Given the description of an element on the screen output the (x, y) to click on. 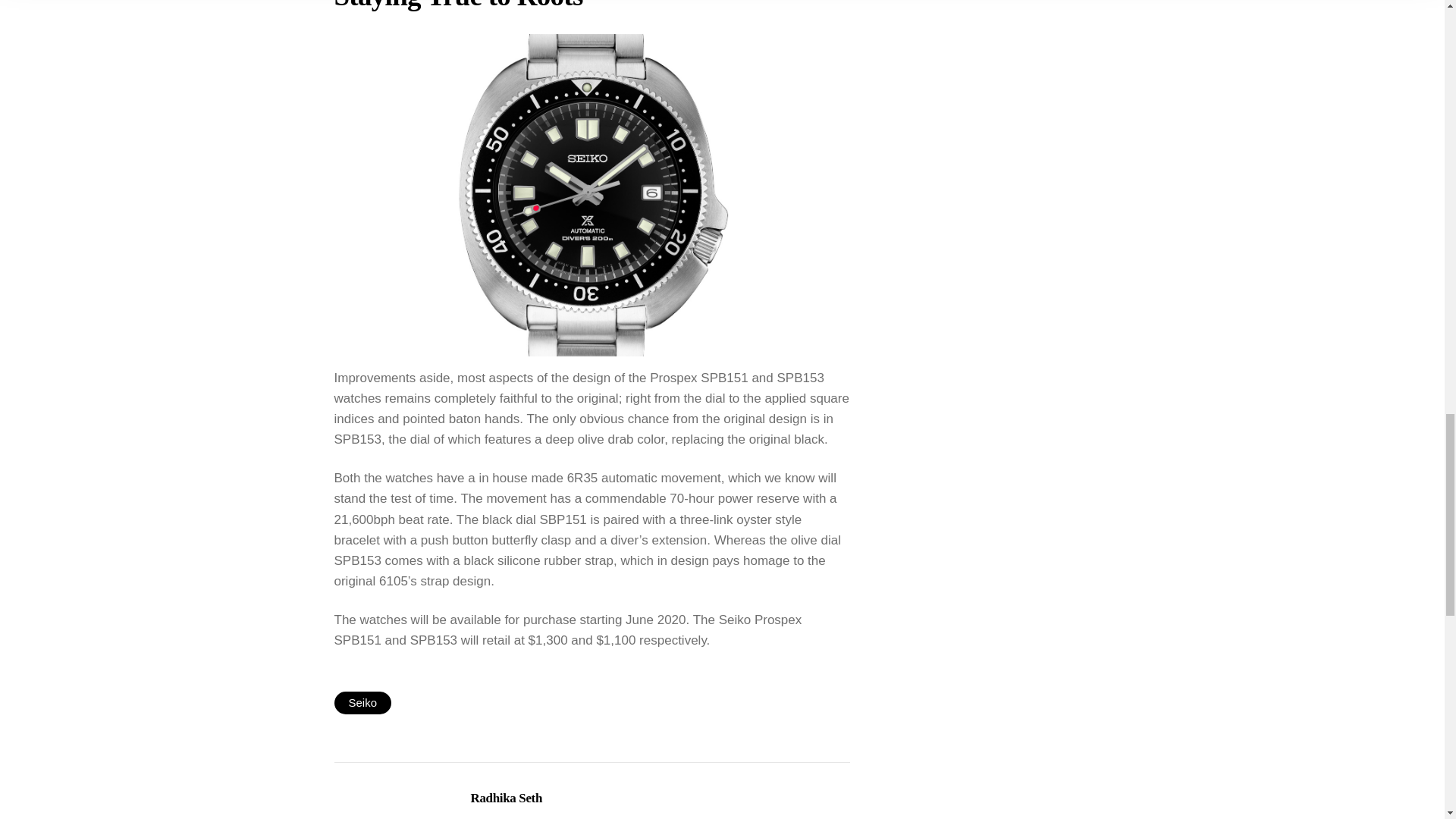
Seiko (362, 702)
